Given the description of an element on the screen output the (x, y) to click on. 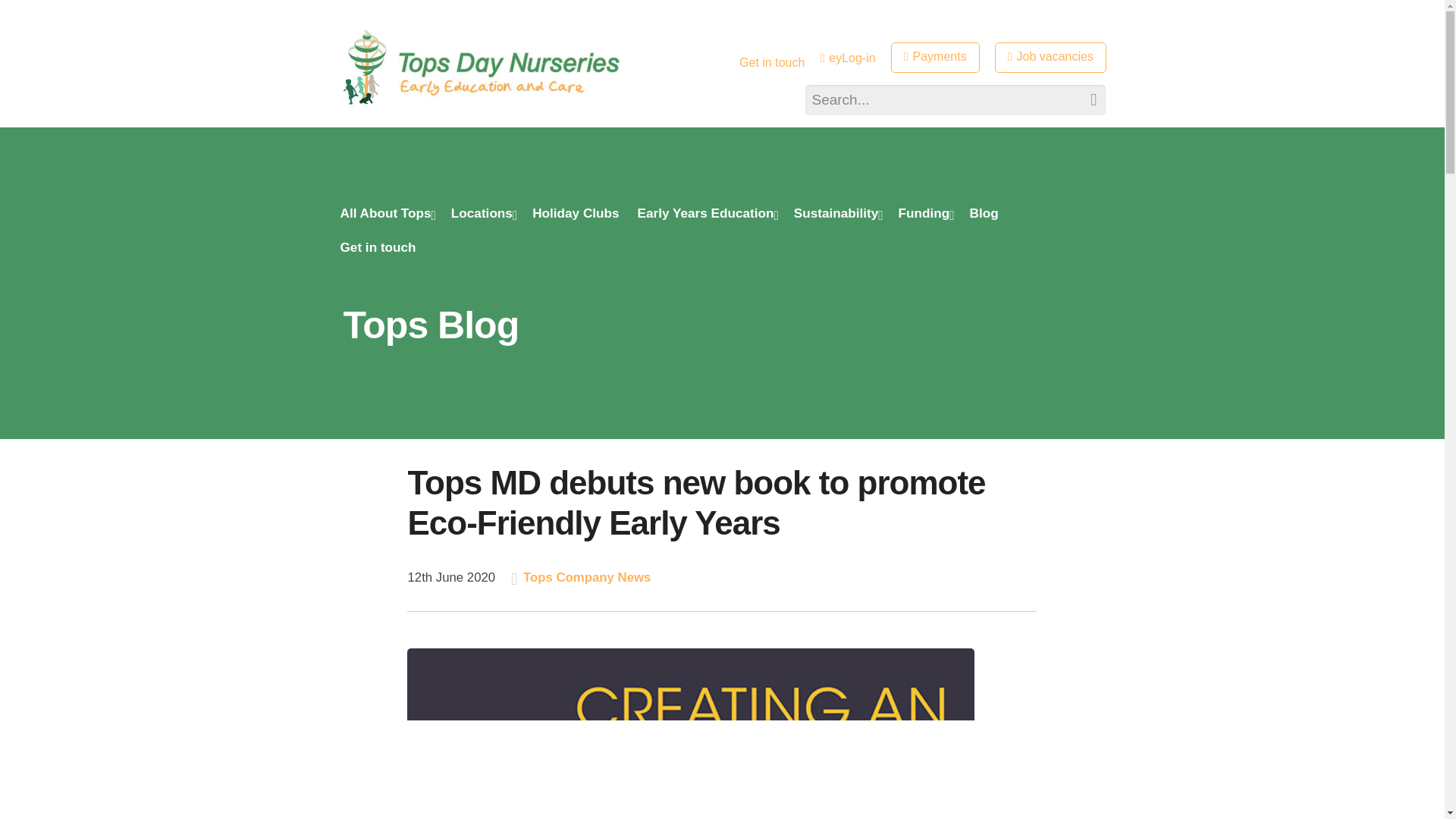
Search (1085, 100)
Job vacancies (1050, 57)
Payments (935, 57)
Locations (482, 214)
eyLog-in (848, 57)
Search (1085, 100)
Get in touch (772, 62)
All About Tops (385, 214)
Search (1085, 100)
